Given the description of an element on the screen output the (x, y) to click on. 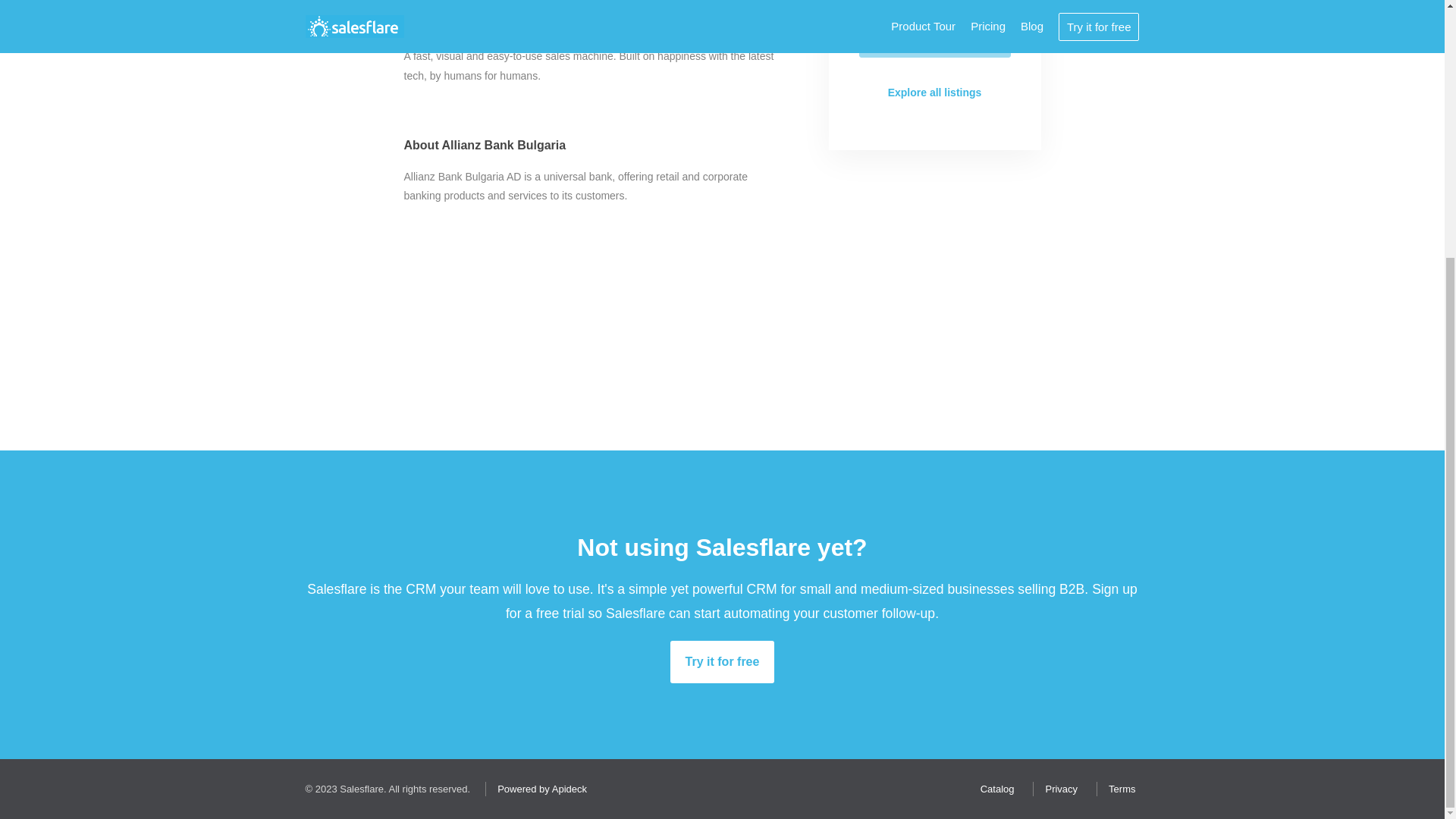
Powered by Apideck (538, 789)
Explore all listings (934, 92)
Request this listing (934, 37)
Catalog (993, 789)
Try it for free (721, 661)
Privacy (1057, 789)
Terms (1117, 789)
